Given the description of an element on the screen output the (x, y) to click on. 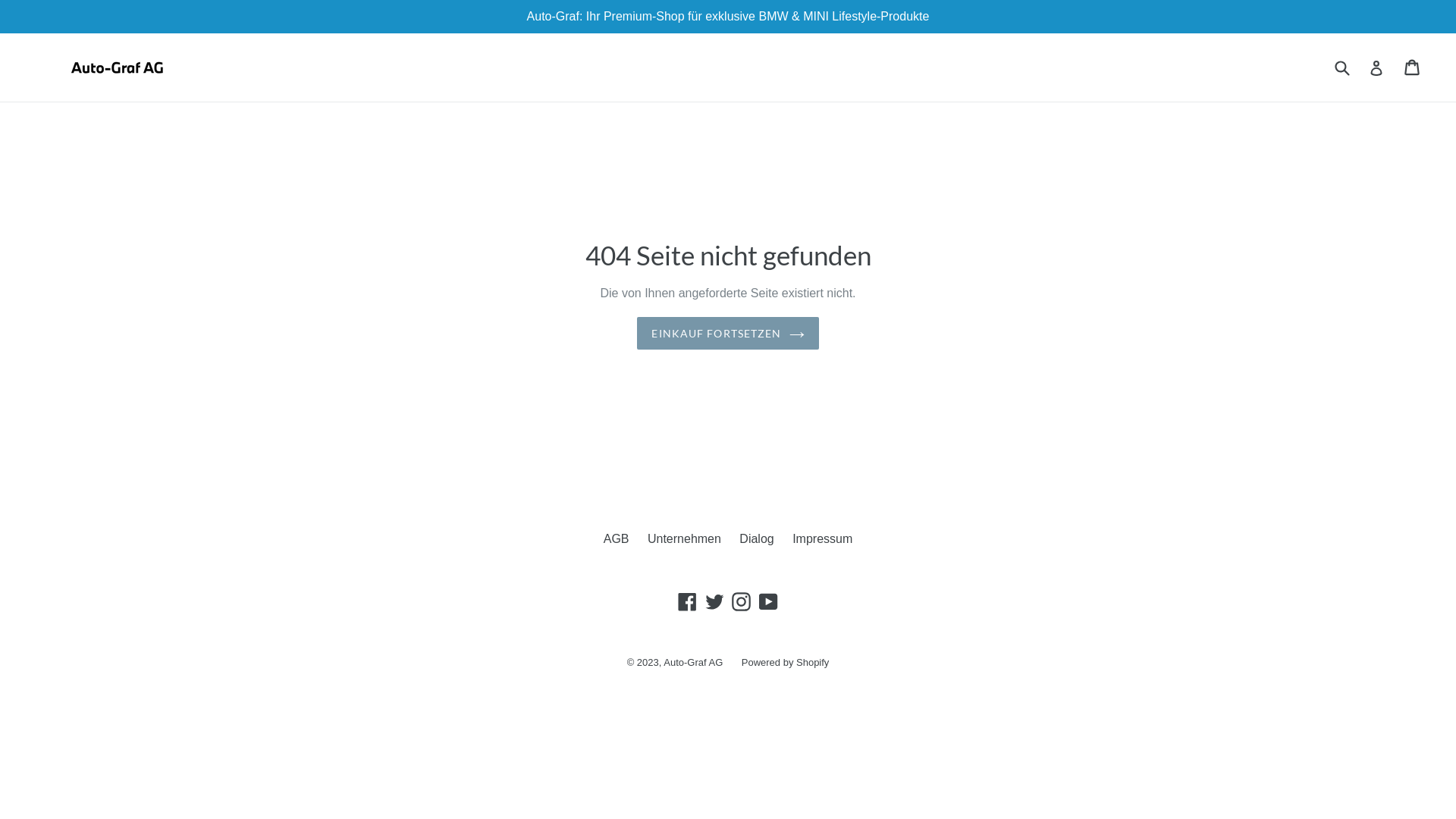
Instagram Element type: text (741, 601)
YouTube Element type: text (768, 601)
Suchen Element type: text (1341, 66)
EINKAUF FORTSETZEN Element type: text (727, 332)
Auto-Graf AG Element type: text (692, 662)
Einkaufswagen
Einkaufswagen Element type: text (1412, 67)
Unternehmen Element type: text (684, 538)
AGB Element type: text (616, 538)
Einloggen Element type: text (1375, 67)
Twitter Element type: text (714, 601)
Facebook Element type: text (687, 601)
Impressum Element type: text (822, 538)
Dialog Element type: text (756, 538)
